Given the description of an element on the screen output the (x, y) to click on. 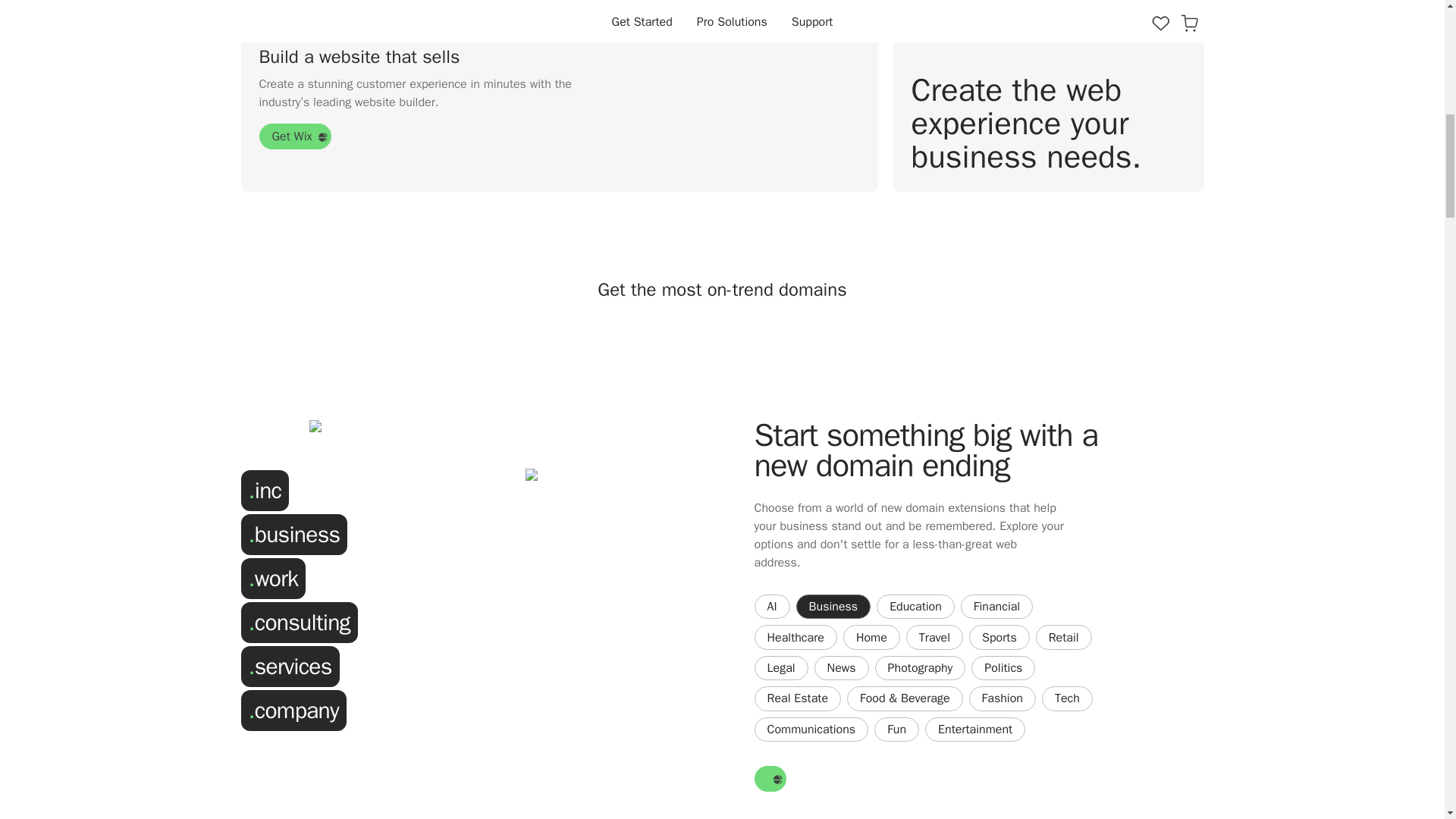
.consulting (299, 622)
Get Wix (295, 136)
.services (290, 666)
.inc (265, 490)
.work (273, 578)
.business (294, 534)
.company (293, 710)
